Given the description of an element on the screen output the (x, y) to click on. 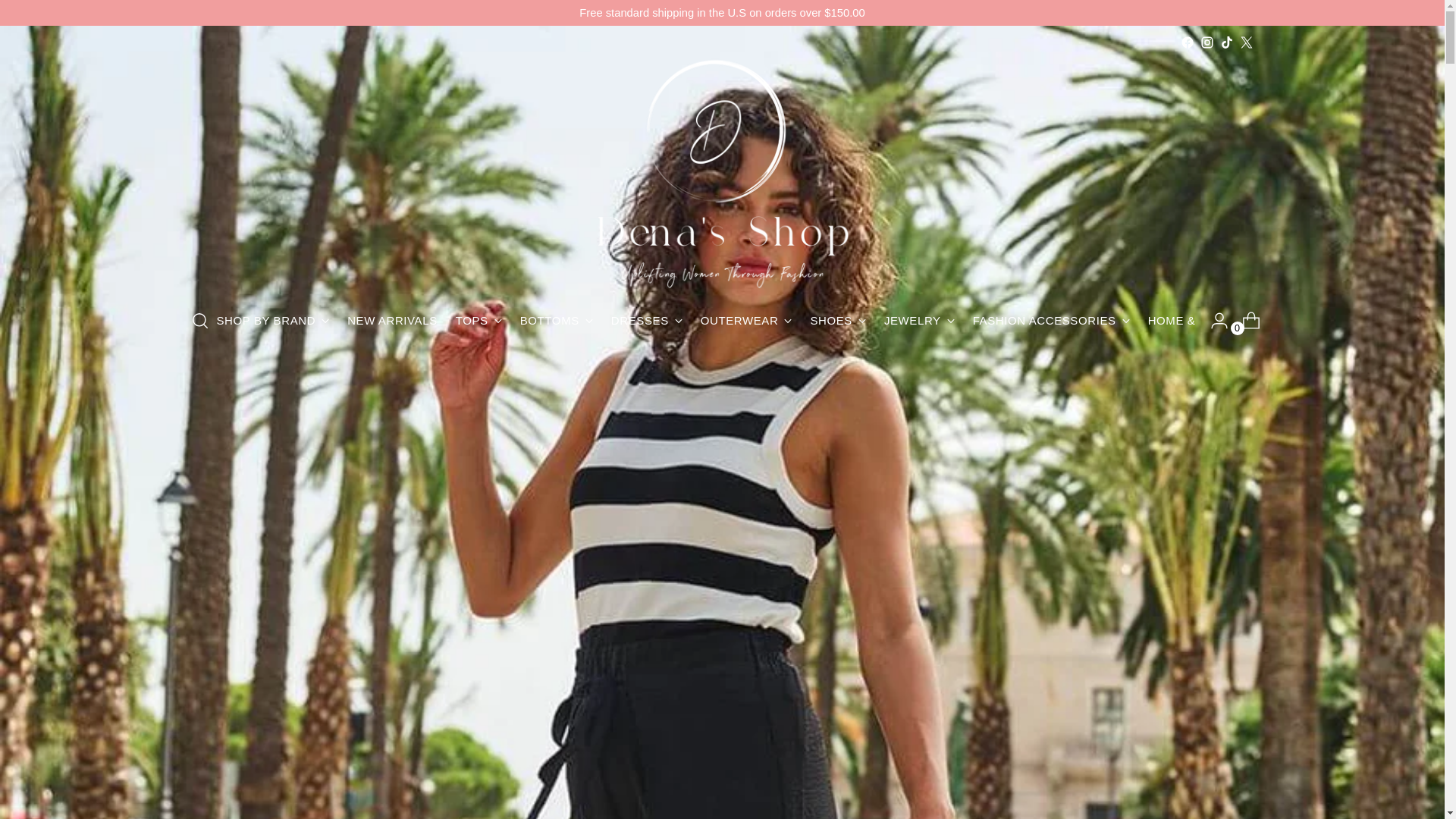
Dena's Shop on the Corner on Twitter (1245, 42)
SHOP BY BRAND (273, 320)
Dena's Shop on the Corner on Facebook (1186, 42)
Dena's Shop on the Corner on Instagram (1205, 42)
Dena's Shop on the Corner on Tiktok (1226, 42)
